Given the description of an element on the screen output the (x, y) to click on. 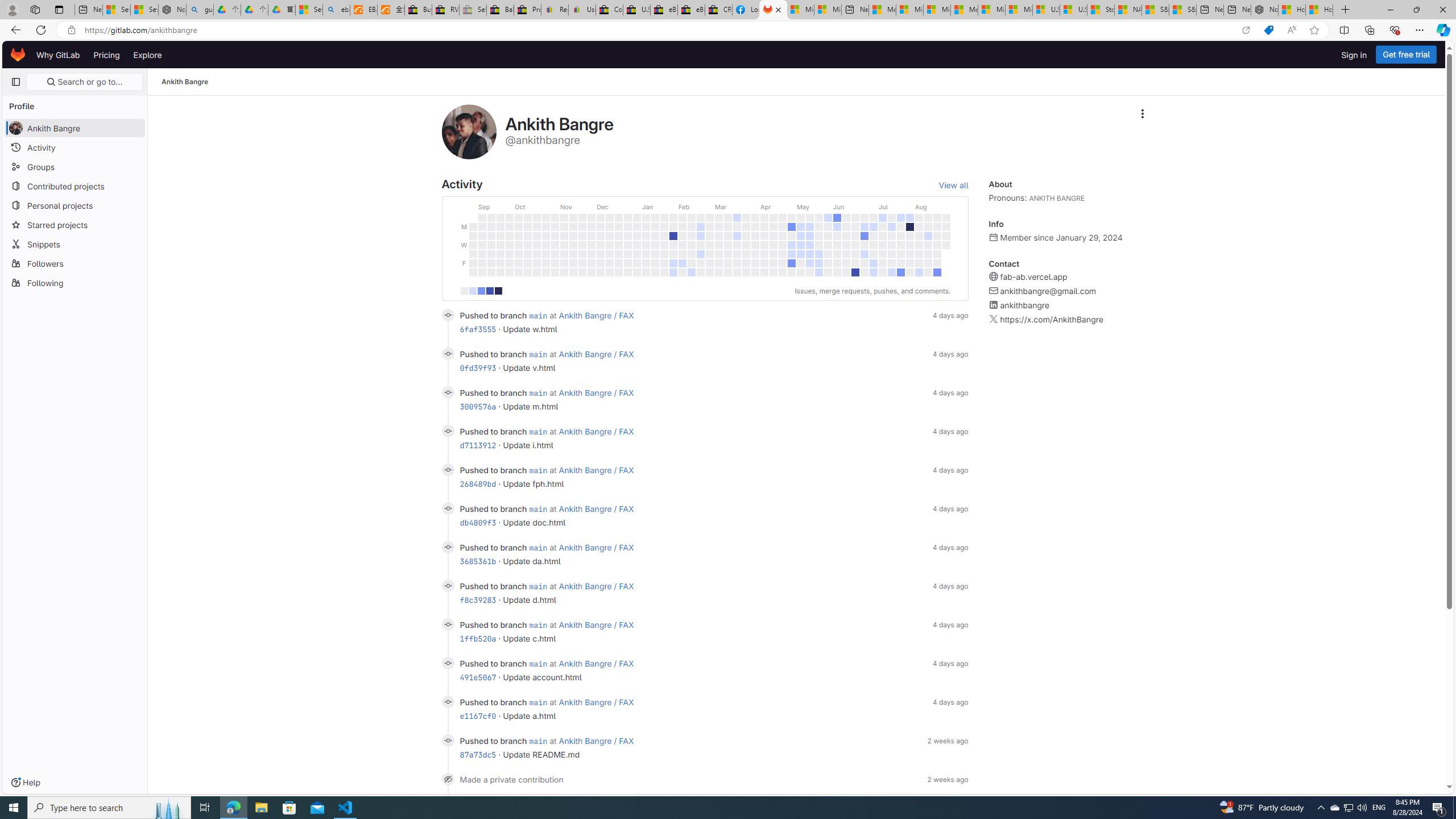
Microsoft account | Privacy (909, 9)
30+ contributions (497, 290)
f8c39283 (478, 599)
Minimize (1390, 9)
